Given the description of an element on the screen output the (x, y) to click on. 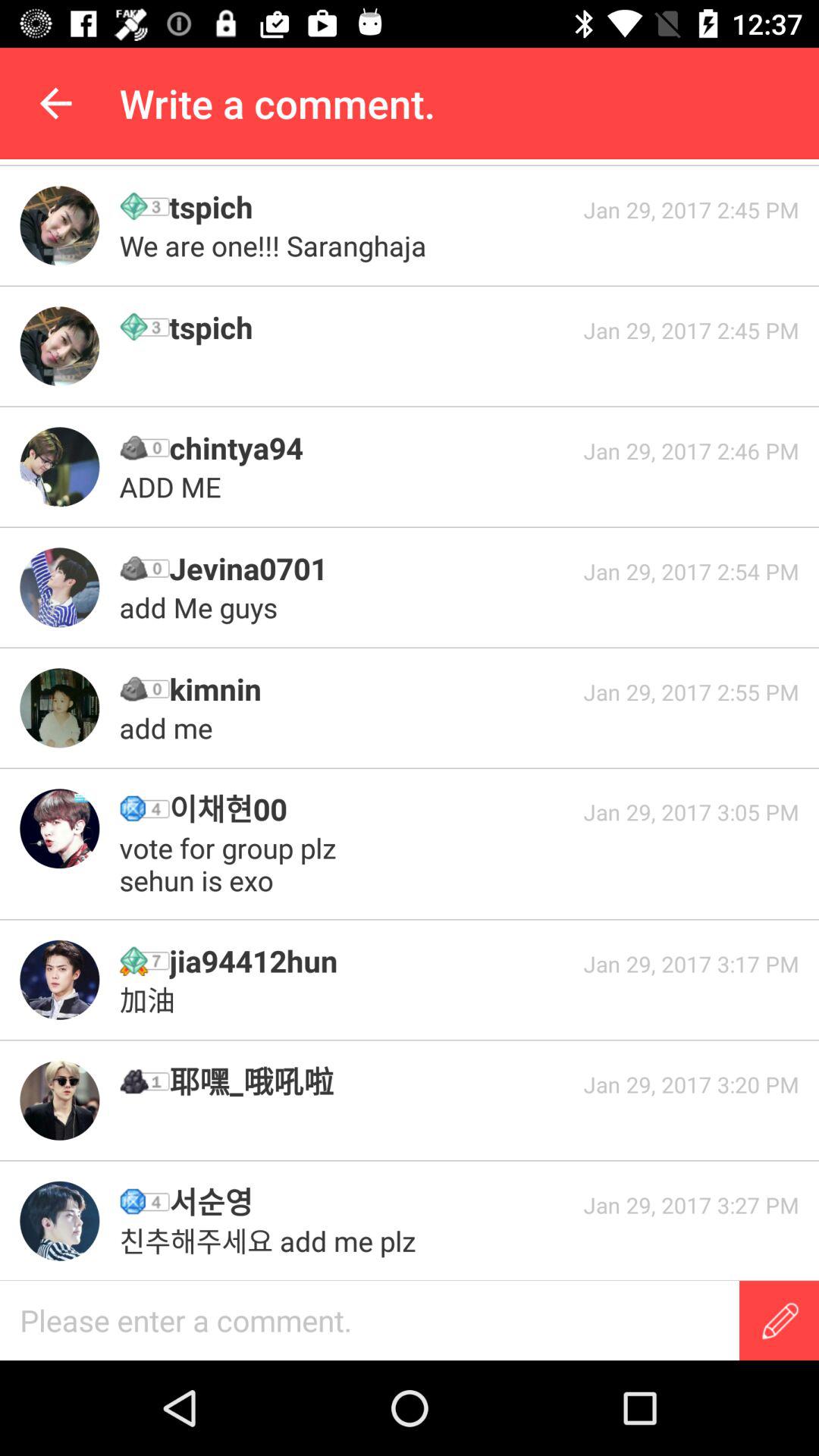
click profile photo (59, 466)
